Given the description of an element on the screen output the (x, y) to click on. 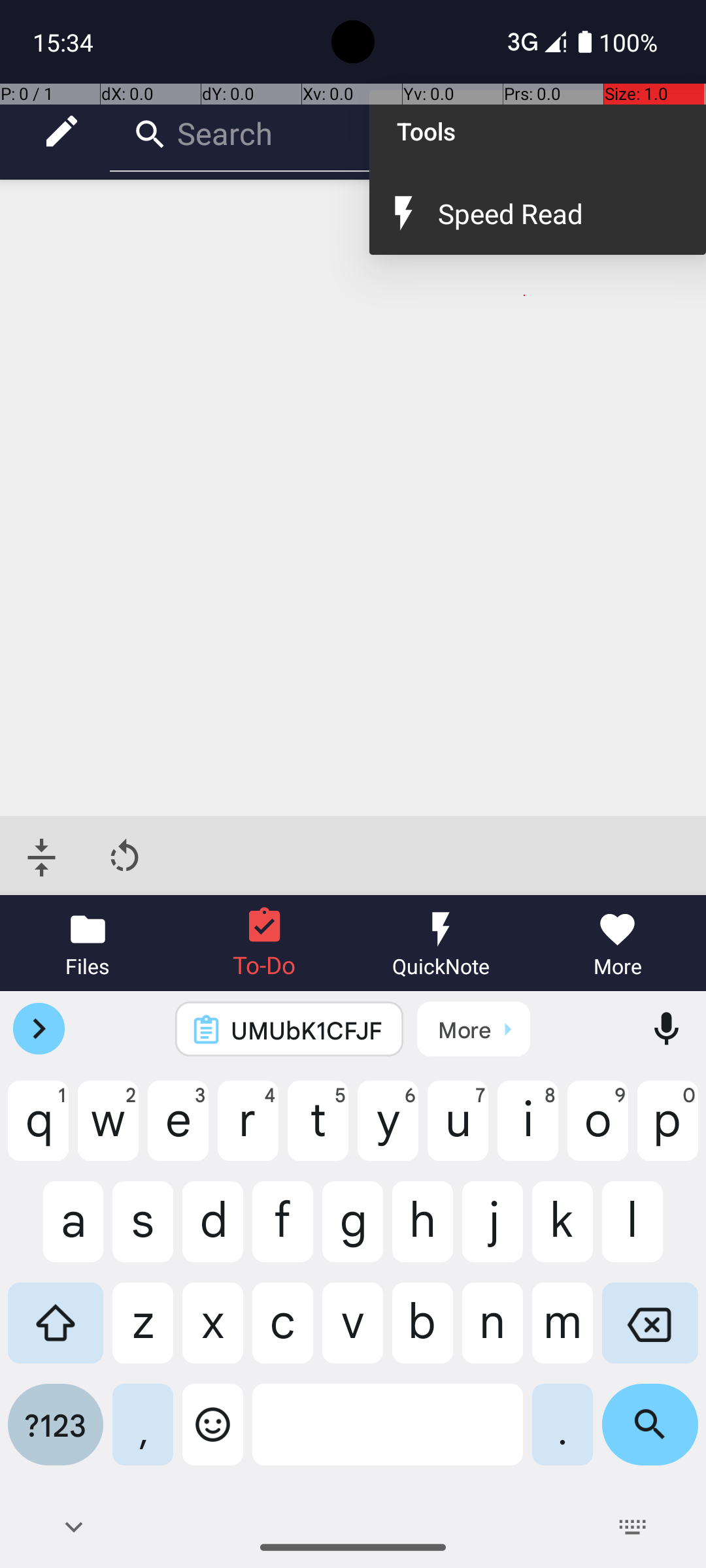
Tools Element type: android.widget.TextView (537, 130)
Speed Read Element type: android.widget.TextView (557, 212)
